Given the description of an element on the screen output the (x, y) to click on. 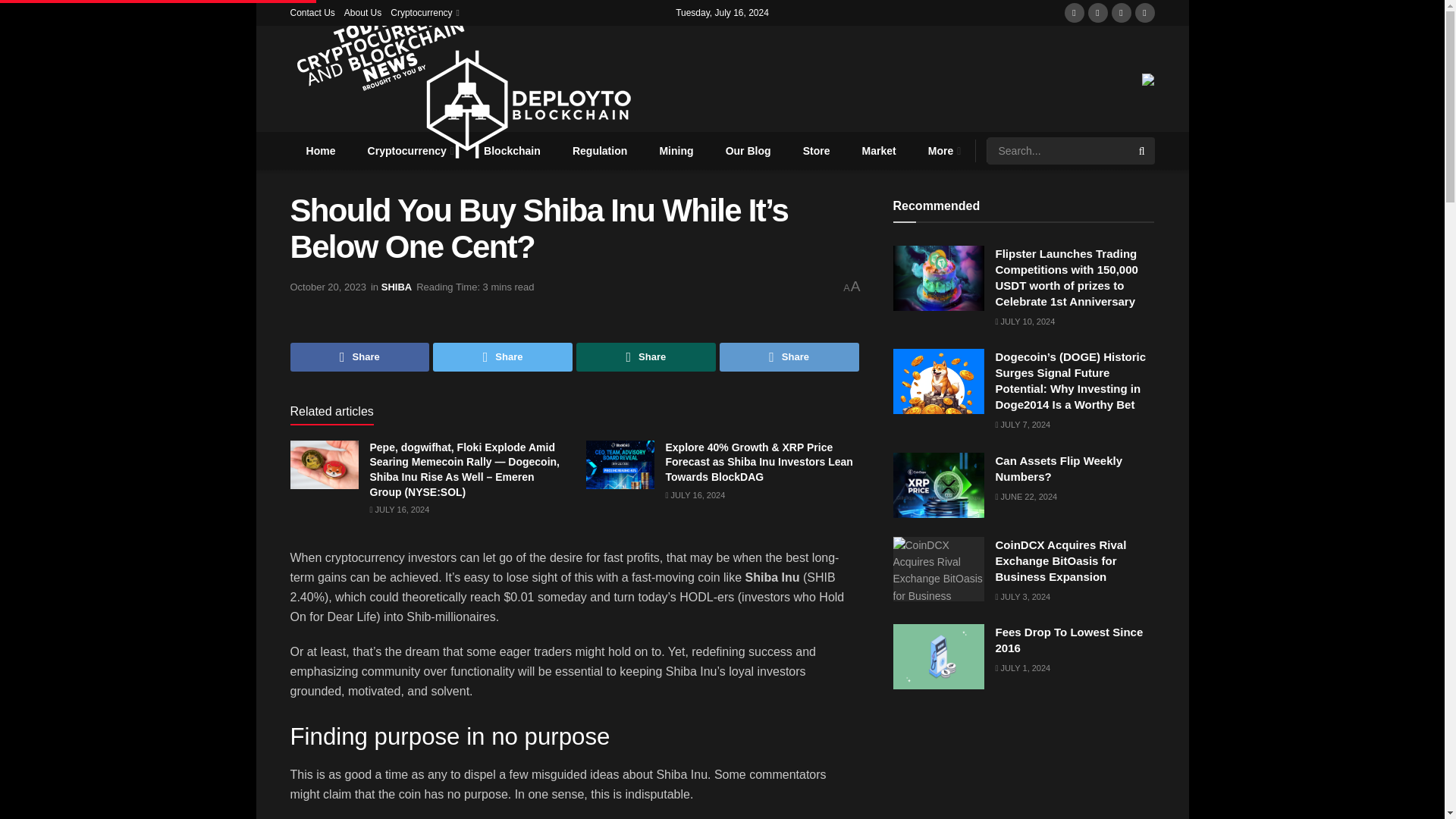
Cryptocurrency (410, 150)
About Us (362, 12)
Cryptocurrency (423, 12)
Contact Us (311, 12)
Home (319, 150)
